Given the description of an element on the screen output the (x, y) to click on. 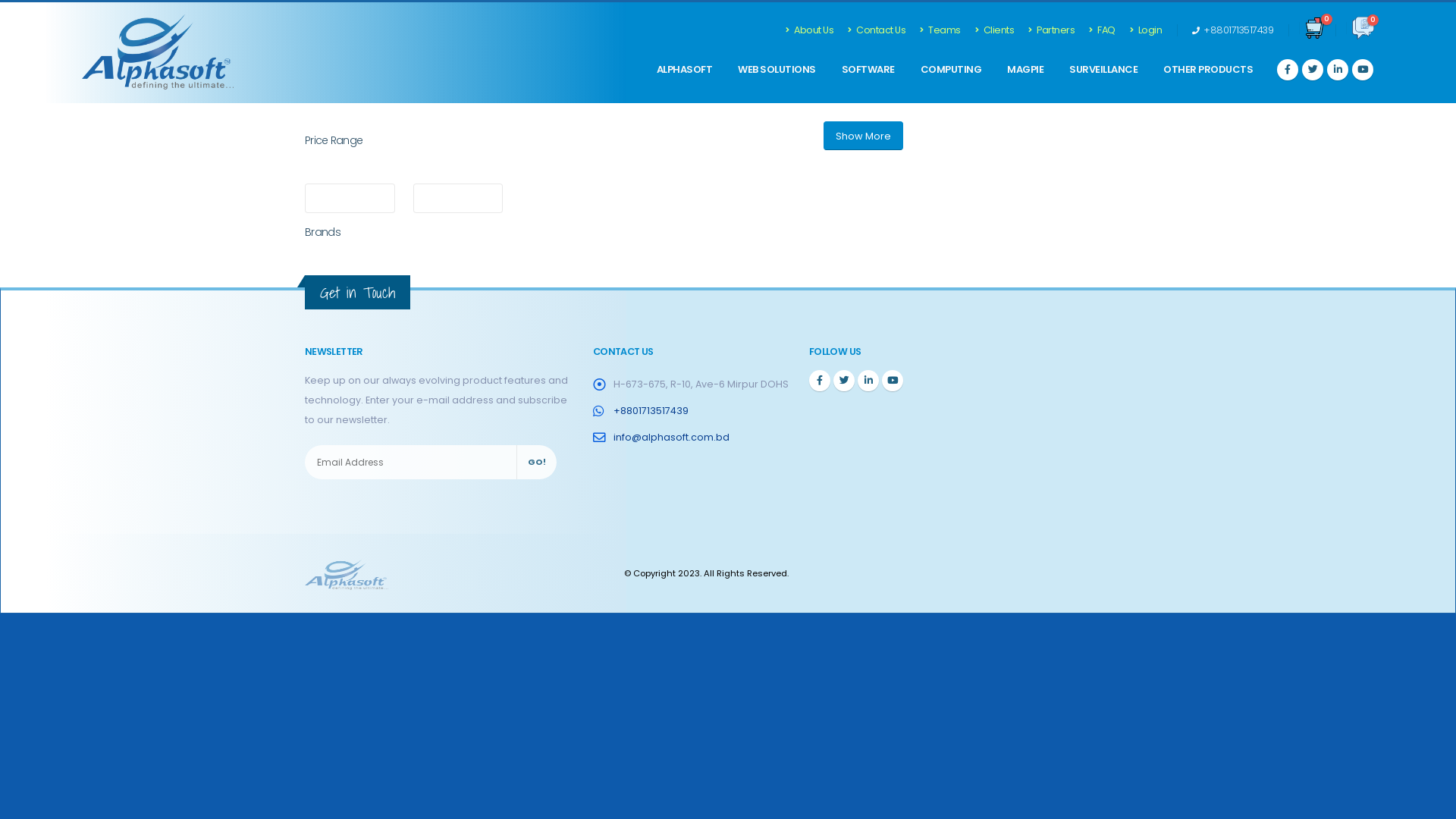
Login Element type: text (1146, 29)
Facebook Element type: hover (1287, 69)
Facebook Element type: hover (819, 380)
OTHER PRODUCTS Element type: text (1207, 69)
COMPUTING Element type: text (951, 69)
Show More Element type: text (863, 135)
Linkedin Element type: hover (1337, 69)
FAQ Element type: text (1102, 29)
SURVEILLANCE Element type: text (1103, 69)
SOFTWARE Element type: text (867, 69)
+8801713517439 Element type: text (650, 410)
info@alphasoft.com.bd Element type: text (671, 436)
+8801713517439 Element type: text (1232, 28)
0 Element type: text (1363, 29)
Clients Element type: text (995, 29)
About Us Element type: text (813, 29)
Linkedin Element type: hover (867, 380)
Twitter Element type: hover (1312, 69)
0 Element type: text (1316, 29)
Teams Element type: text (940, 29)
WEB SOLUTIONS Element type: text (776, 69)
Twitter Element type: hover (843, 380)
MAGPIE Element type: text (1024, 69)
Linkedin Element type: hover (892, 380)
Contact Us Element type: text (876, 29)
Facebook Element type: hover (1362, 69)
GO! Element type: text (536, 462)
Partners Element type: text (1051, 29)
ALPHASOFT Element type: text (684, 69)
